Given the description of an element on the screen output the (x, y) to click on. 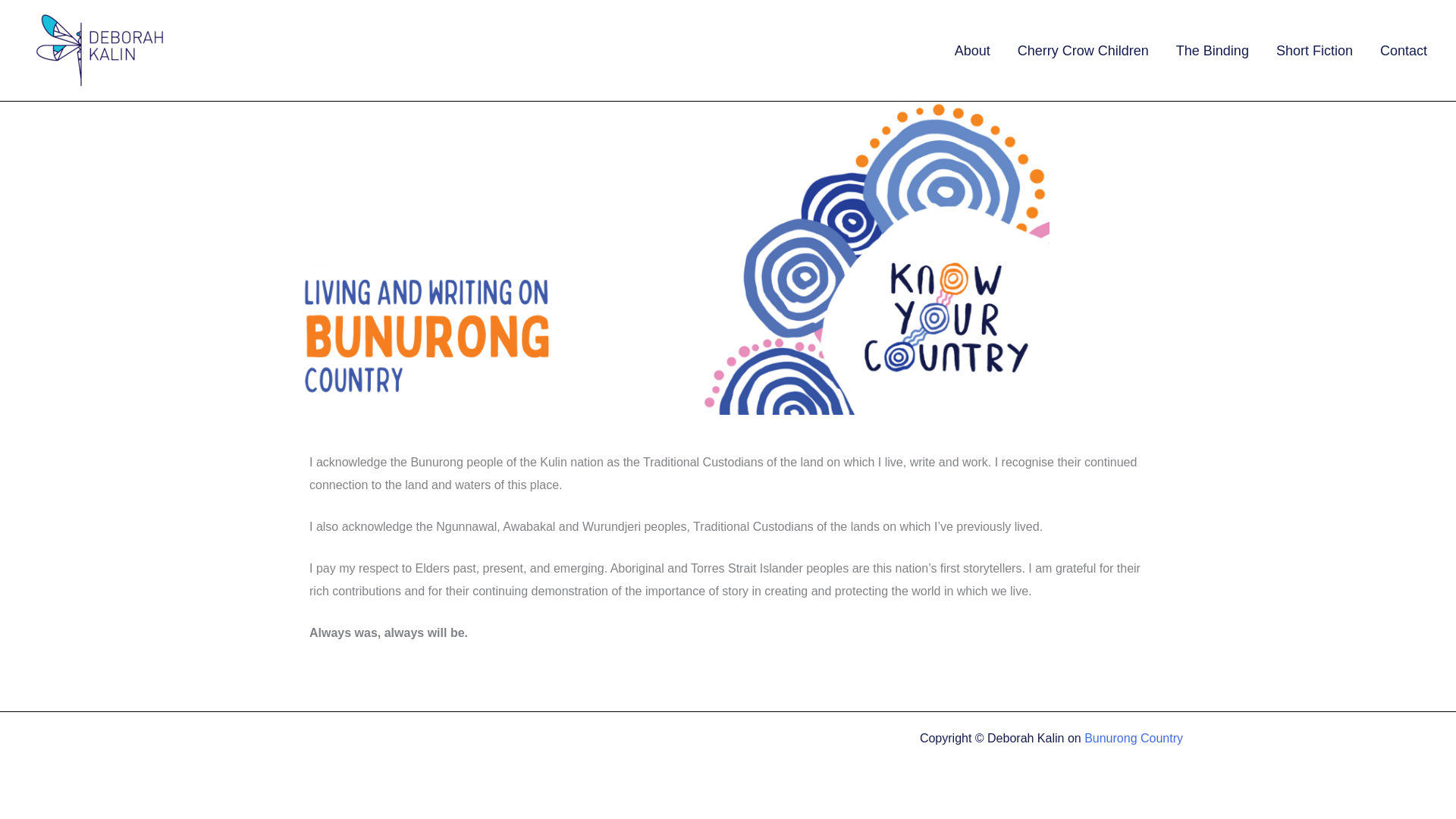
Bunurong Country (1133, 738)
The Binding (1211, 49)
Contact (1404, 49)
About (972, 49)
Cherry Crow Children (1082, 49)
Short Fiction (1314, 49)
